Given the description of an element on the screen output the (x, y) to click on. 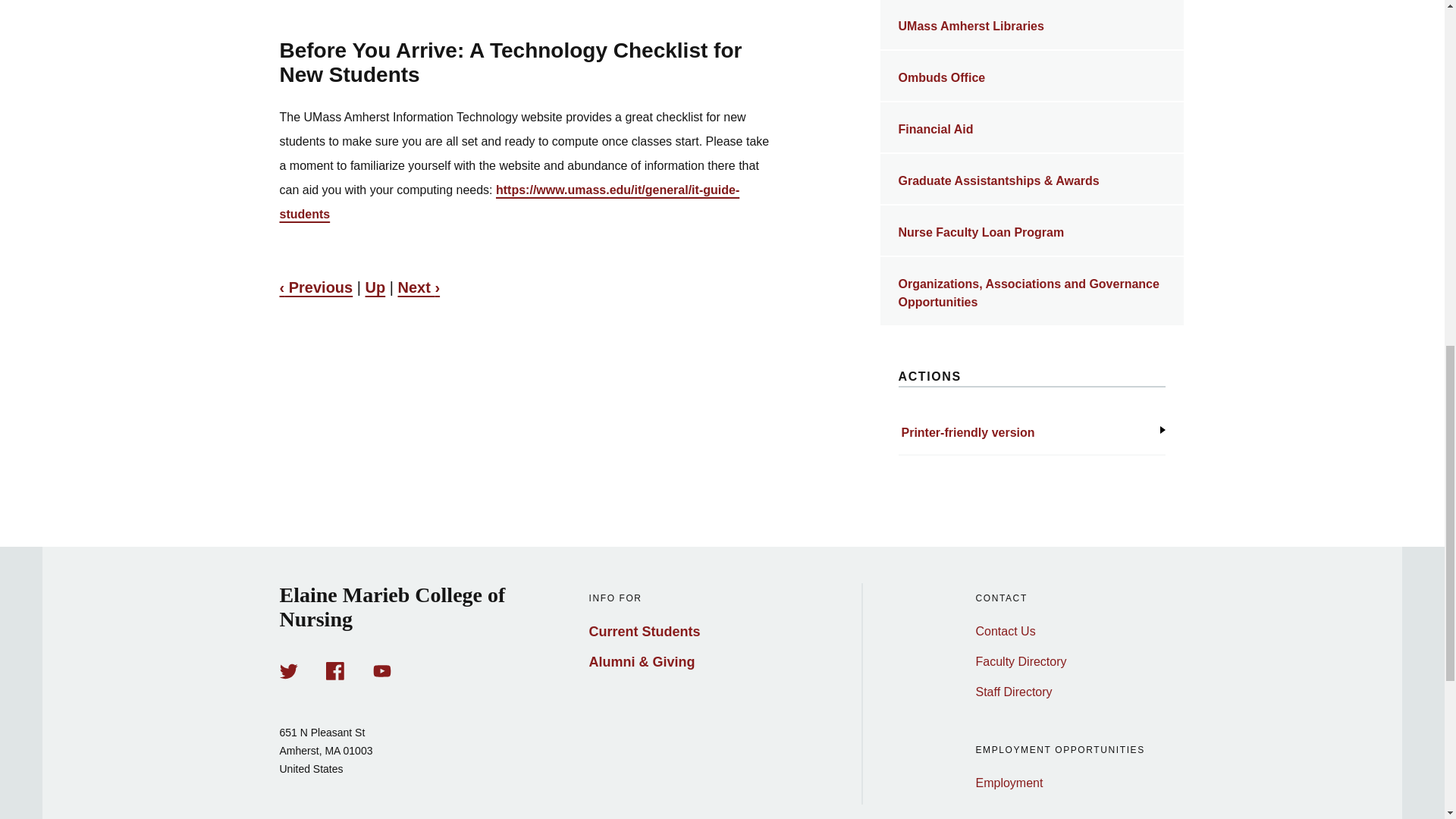
Find us on YouTube (381, 670)
Find us on Twitter (288, 670)
Go to parent page (375, 287)
Go to previous page (315, 287)
Go to next page (419, 287)
Find us on Facebook (334, 670)
